Given the description of an element on the screen output the (x, y) to click on. 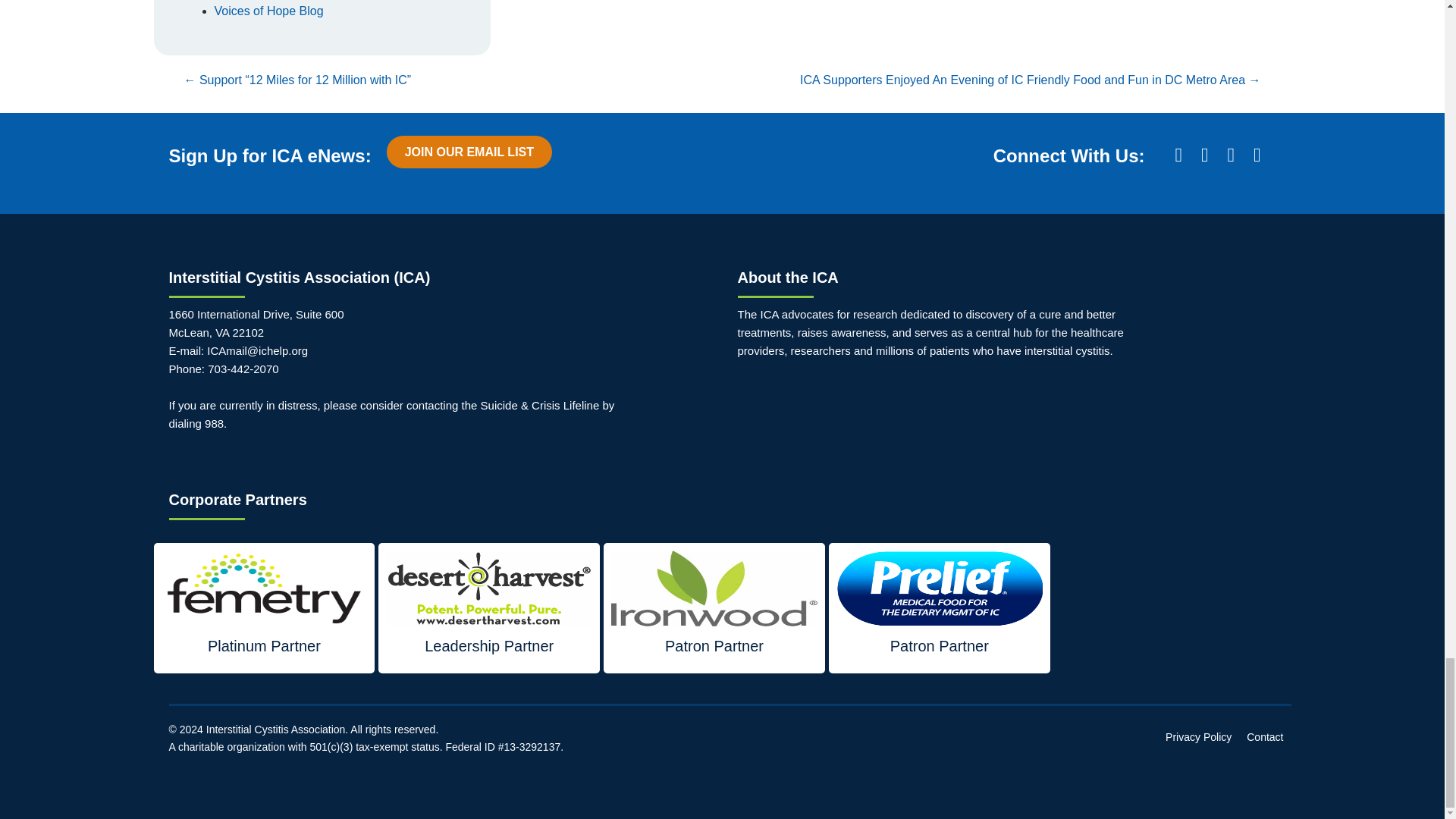
Facebook (1178, 155)
Instagram (1230, 155)
Twitter (1204, 155)
YouTube (1256, 155)
